Given the description of an element on the screen output the (x, y) to click on. 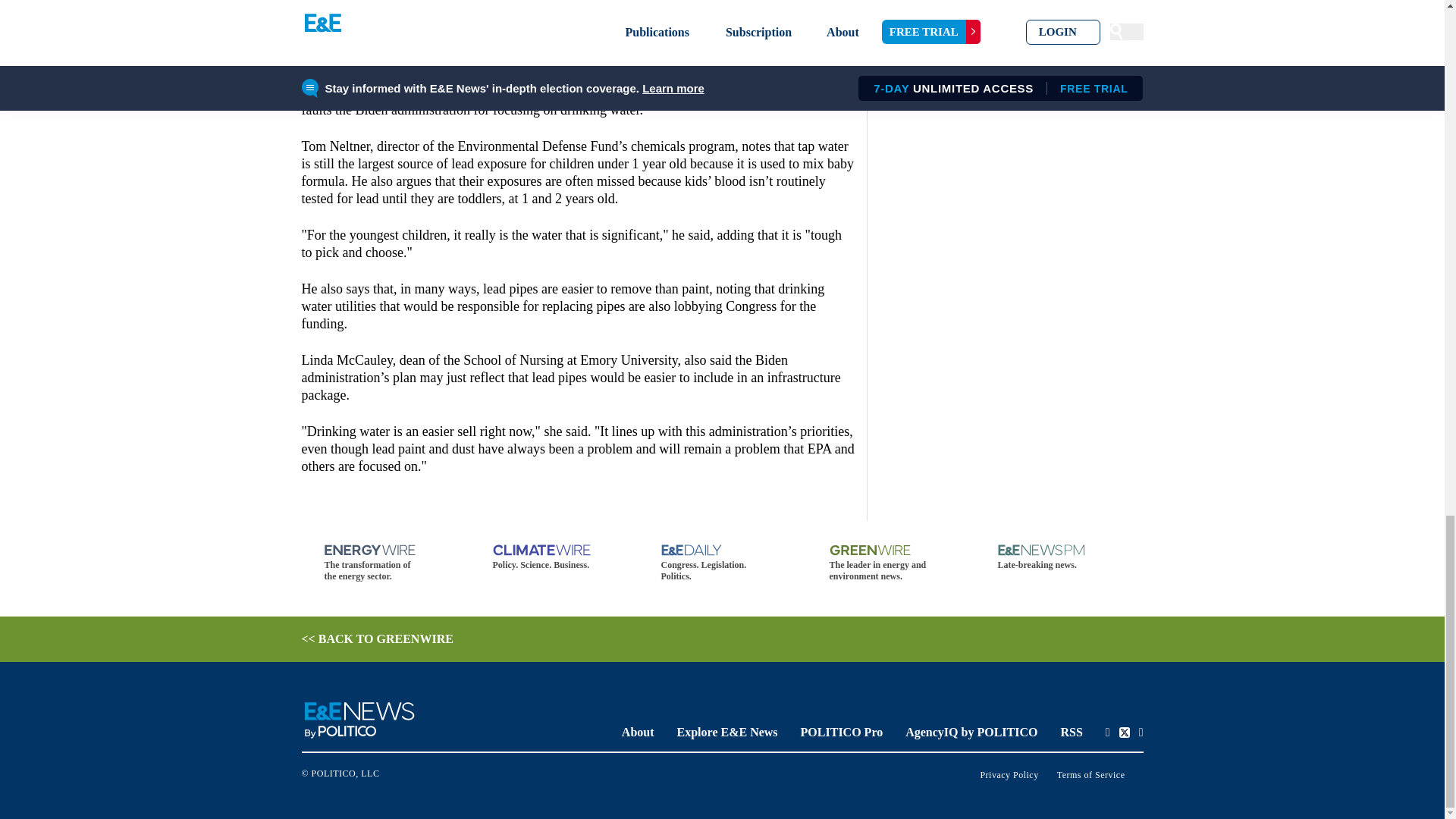
Policy. Science. Business. (554, 556)
The transformation of the energy sector. (385, 562)
Congress. Legislation. Politics. (722, 562)
Late-breaking news. (1058, 556)
About (637, 731)
The leader in energy and environment news. (890, 562)
